Given the description of an element on the screen output the (x, y) to click on. 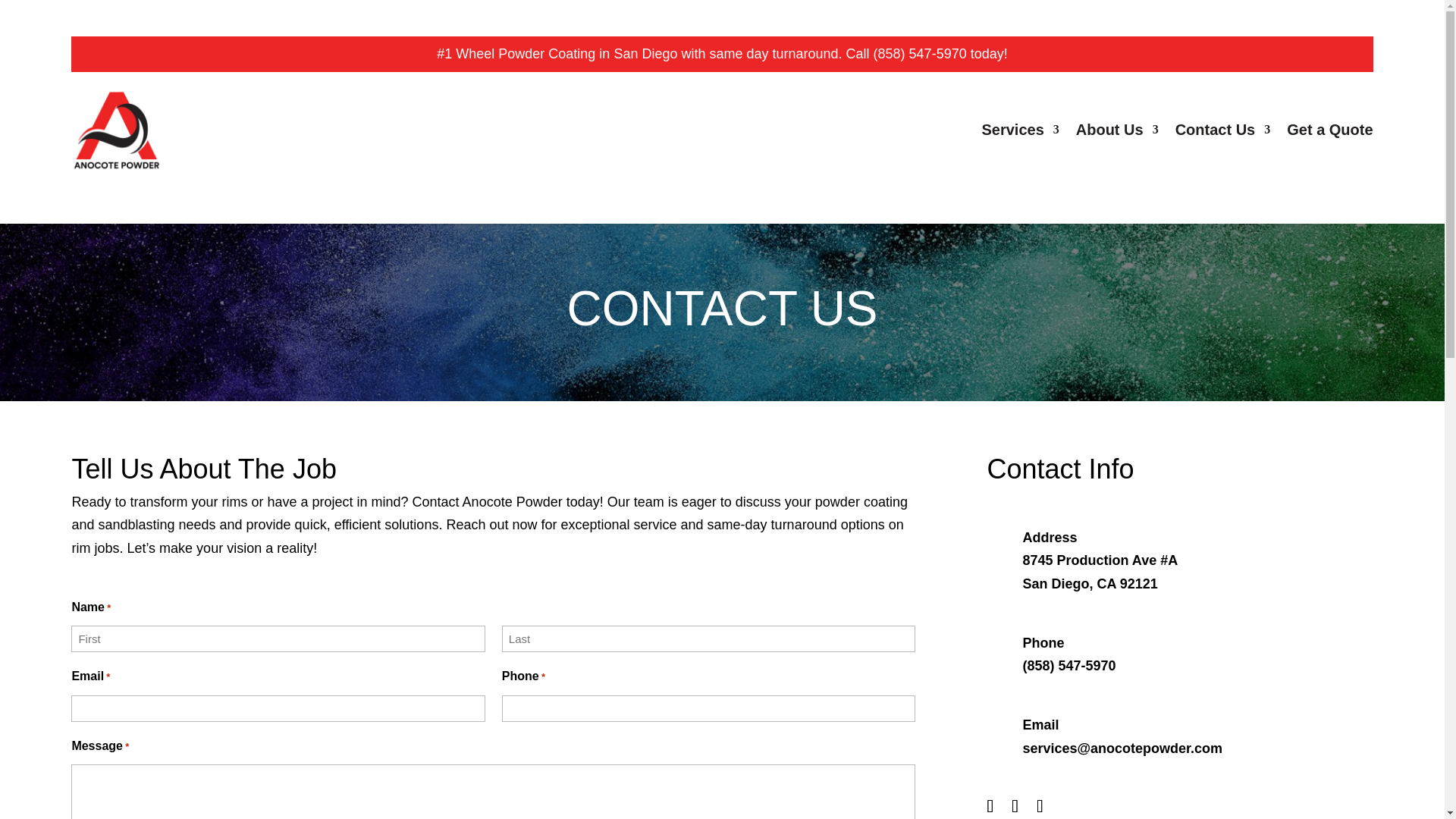
Get a Quote (1330, 129)
Contact Us (1222, 129)
About Us (1116, 129)
